Given the description of an element on the screen output the (x, y) to click on. 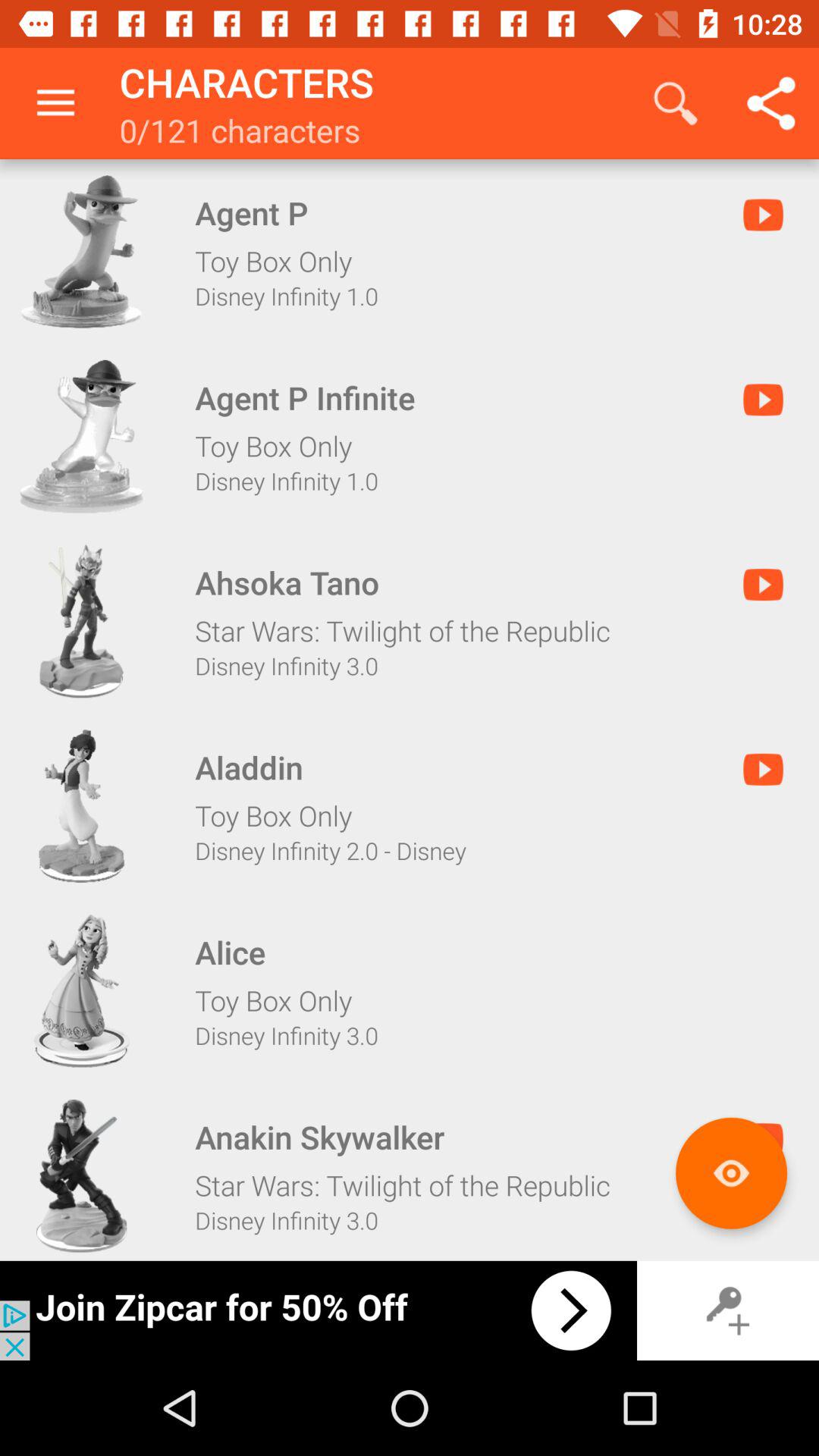
click to alice character (81, 990)
